Given the description of an element on the screen output the (x, y) to click on. 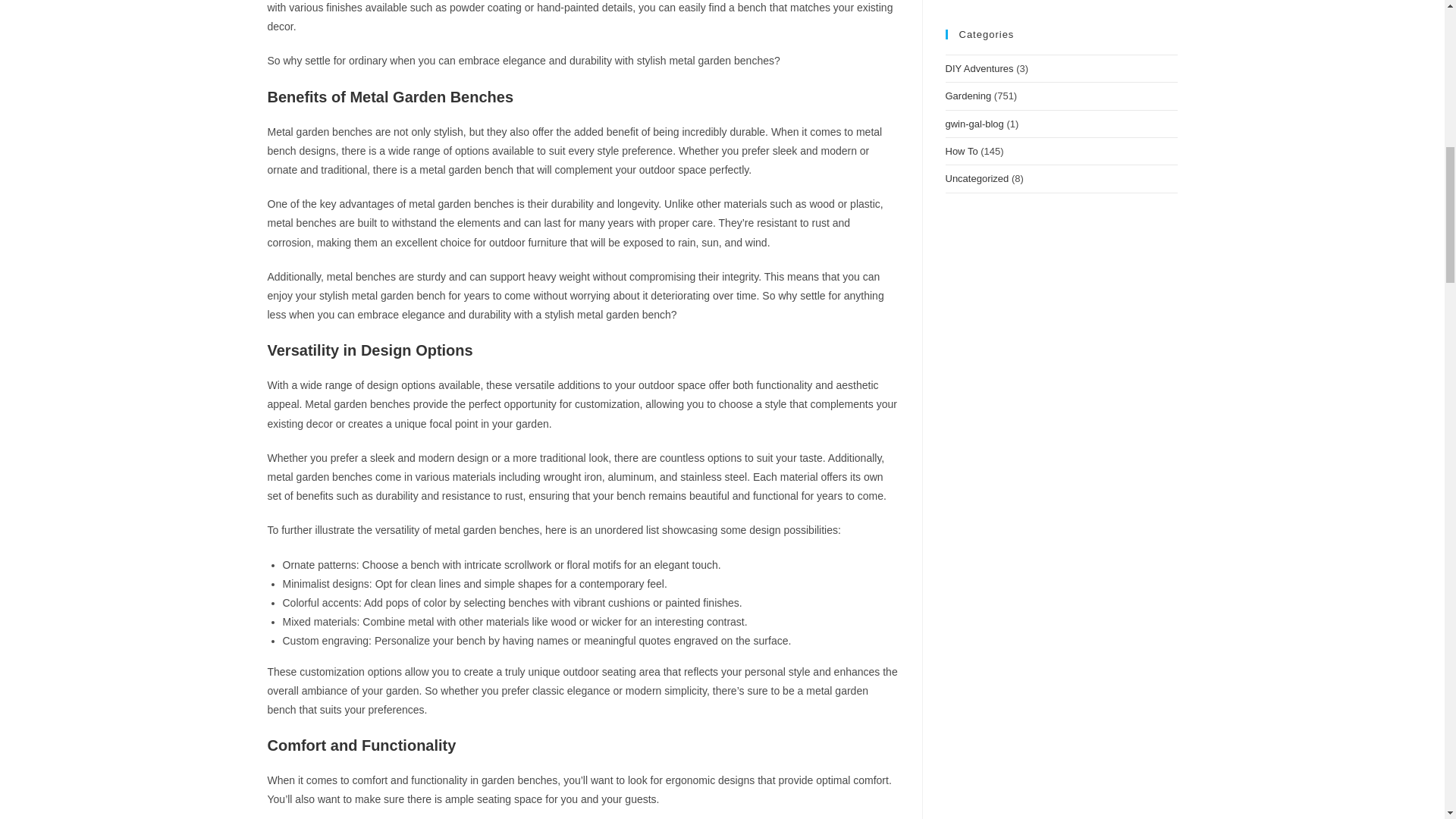
Gardening (967, 95)
Uncategorized (976, 178)
DIY Adventures (978, 68)
gwin-gal-blog (973, 123)
How To (960, 151)
